Given the description of an element on the screen output the (x, y) to click on. 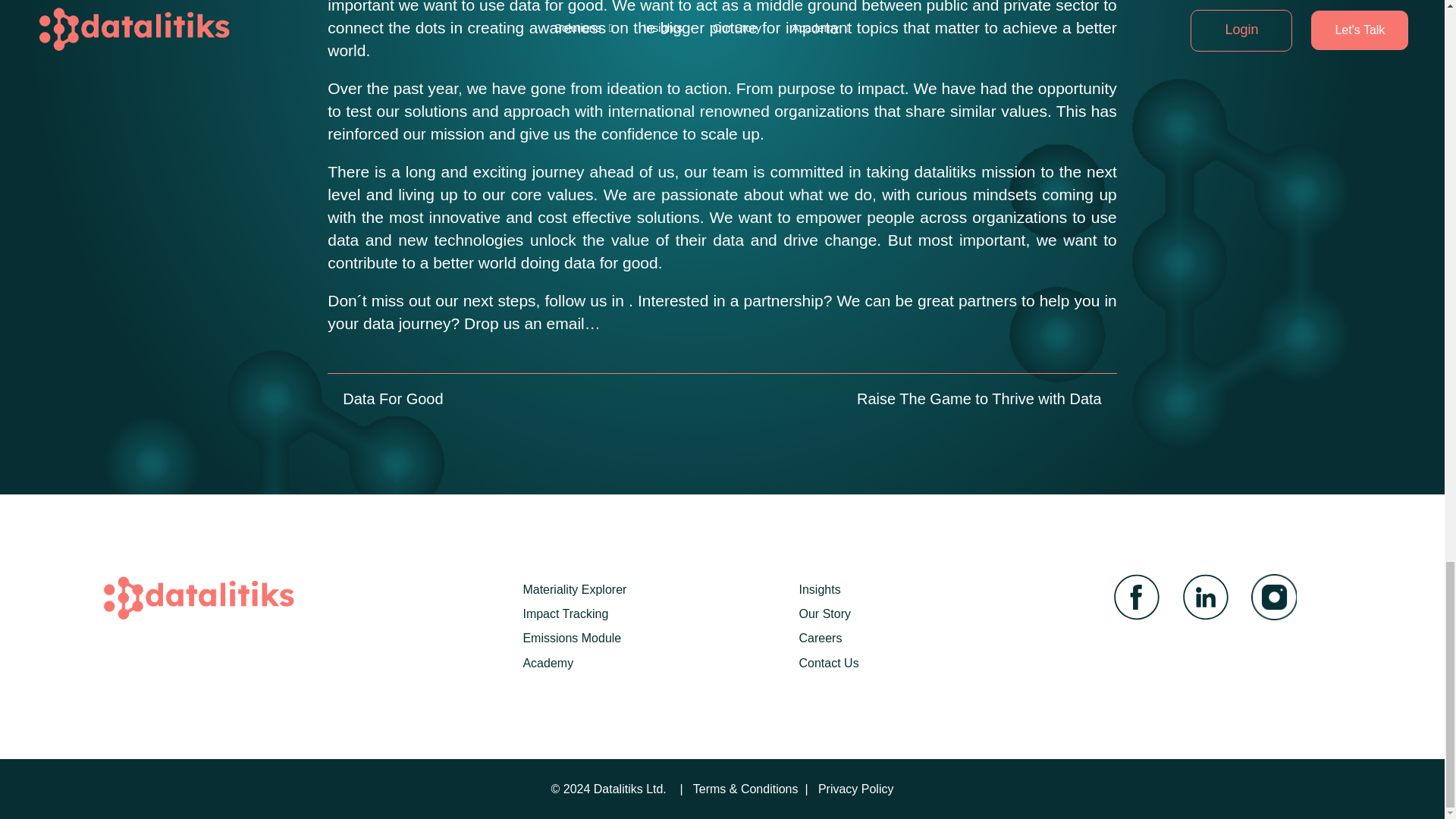
Data For Good (384, 398)
